Given the description of an element on the screen output the (x, y) to click on. 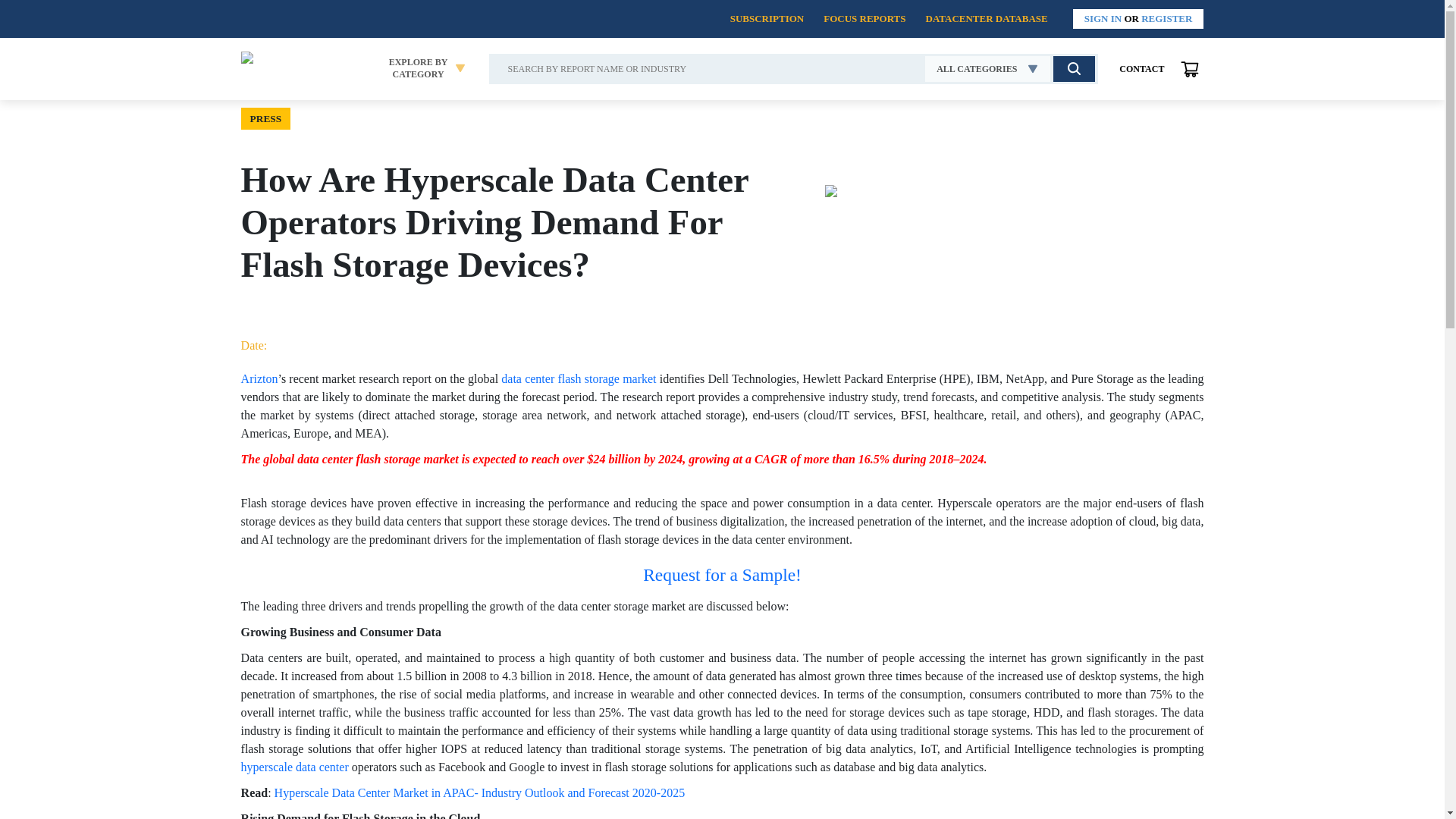
hyperscale data center (296, 766)
FOCUS REPORTS (864, 18)
Arizton (259, 378)
REGISTER (1166, 18)
SIGN IN (1103, 18)
DATACENTER DATABASE (986, 18)
CONTACT (418, 68)
Request for a Sample! (1141, 69)
